Given the description of an element on the screen output the (x, y) to click on. 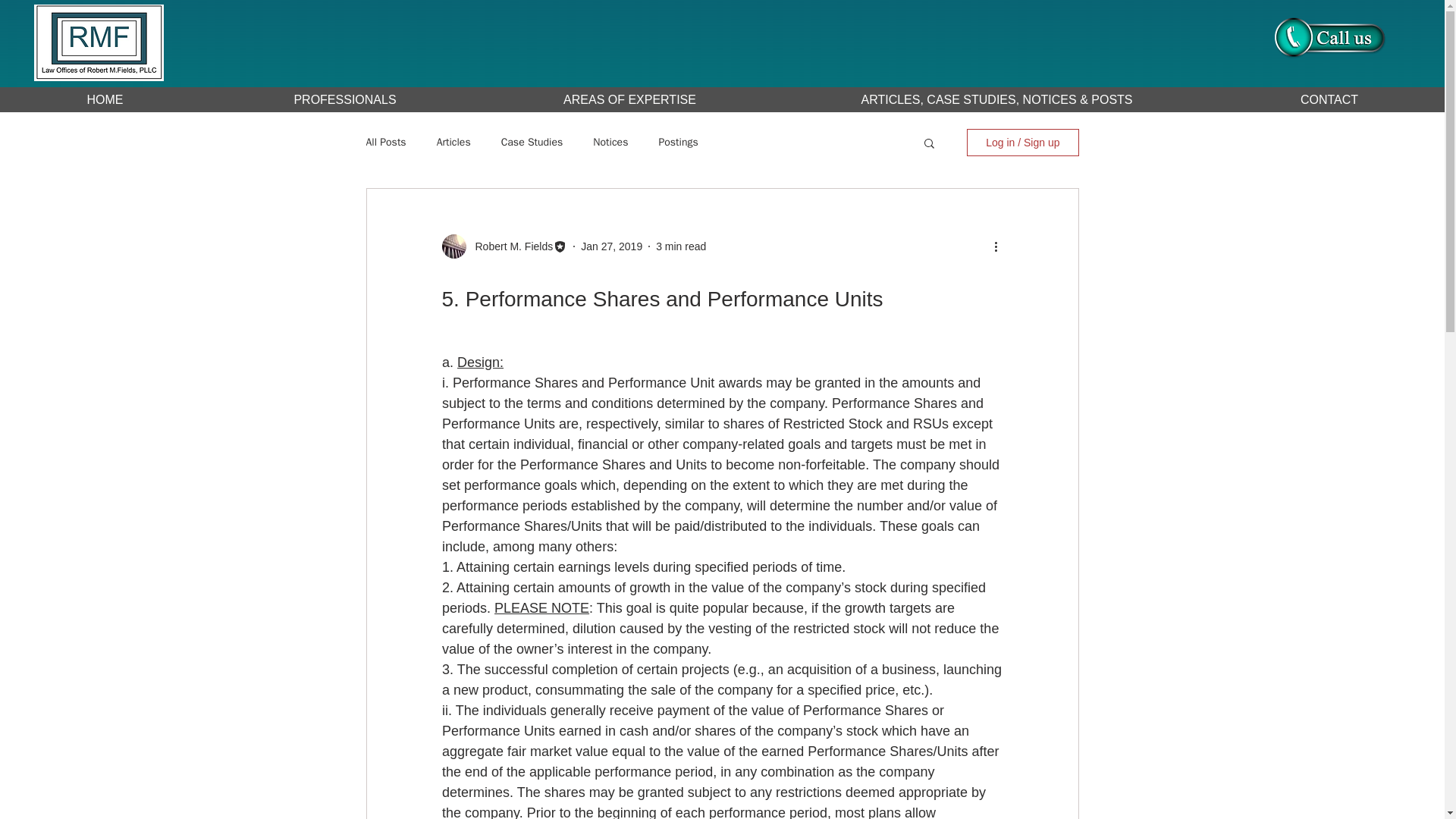
Case Studies (531, 142)
Jan 27, 2019 (611, 245)
HOME (104, 99)
Notices (609, 142)
All Posts (385, 142)
Postings (677, 142)
Robert M. Fields (509, 245)
AREAS OF EXPERTISE (629, 99)
3 min read (681, 245)
Articles (453, 142)
